Given the description of an element on the screen output the (x, y) to click on. 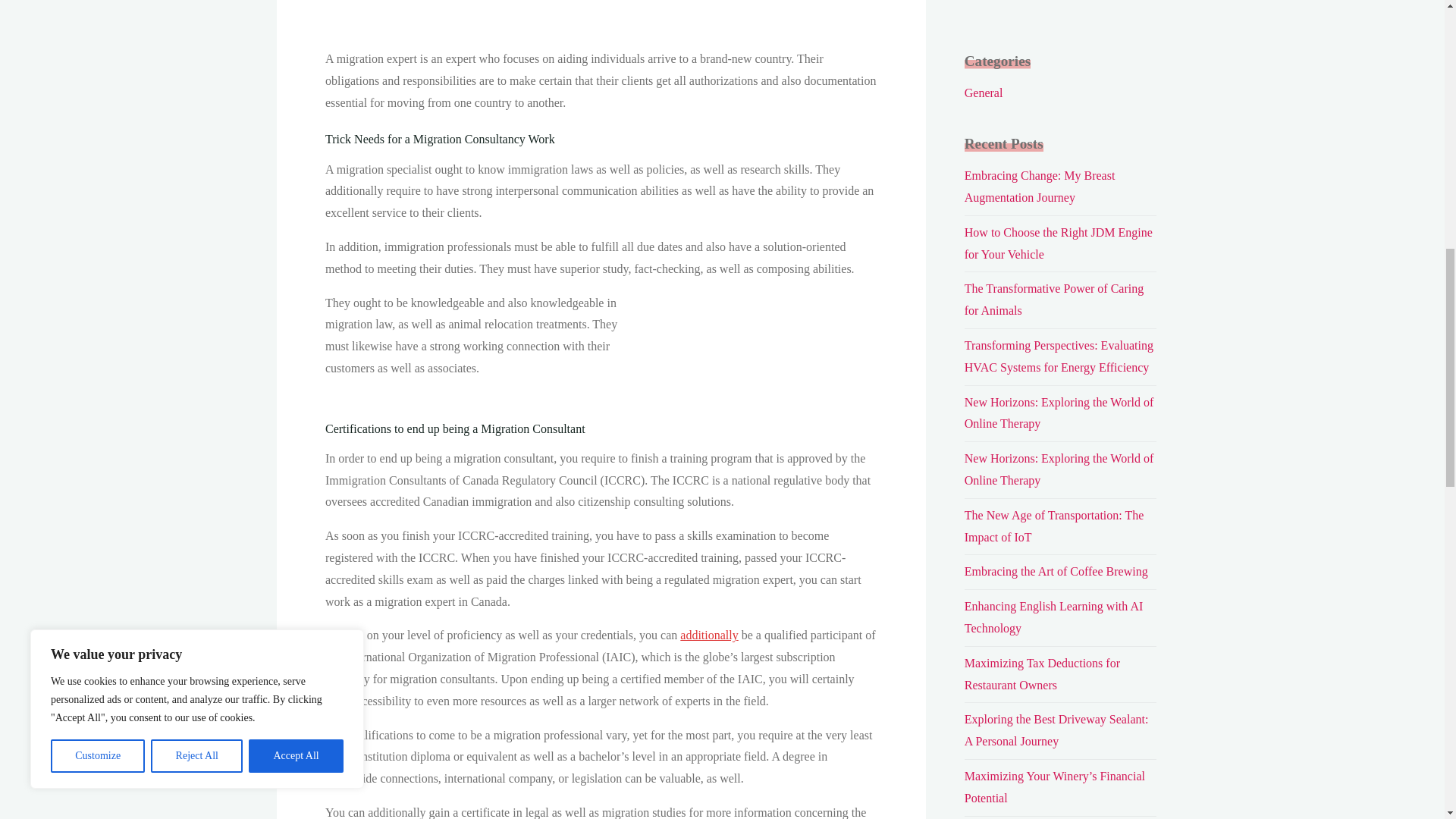
additionally (708, 634)
How to Choose the Right JDM Engine for Your Vehicle (1058, 243)
General (983, 92)
Embracing Change: My Breast Augmentation Journey (1039, 185)
